Given the description of an element on the screen output the (x, y) to click on. 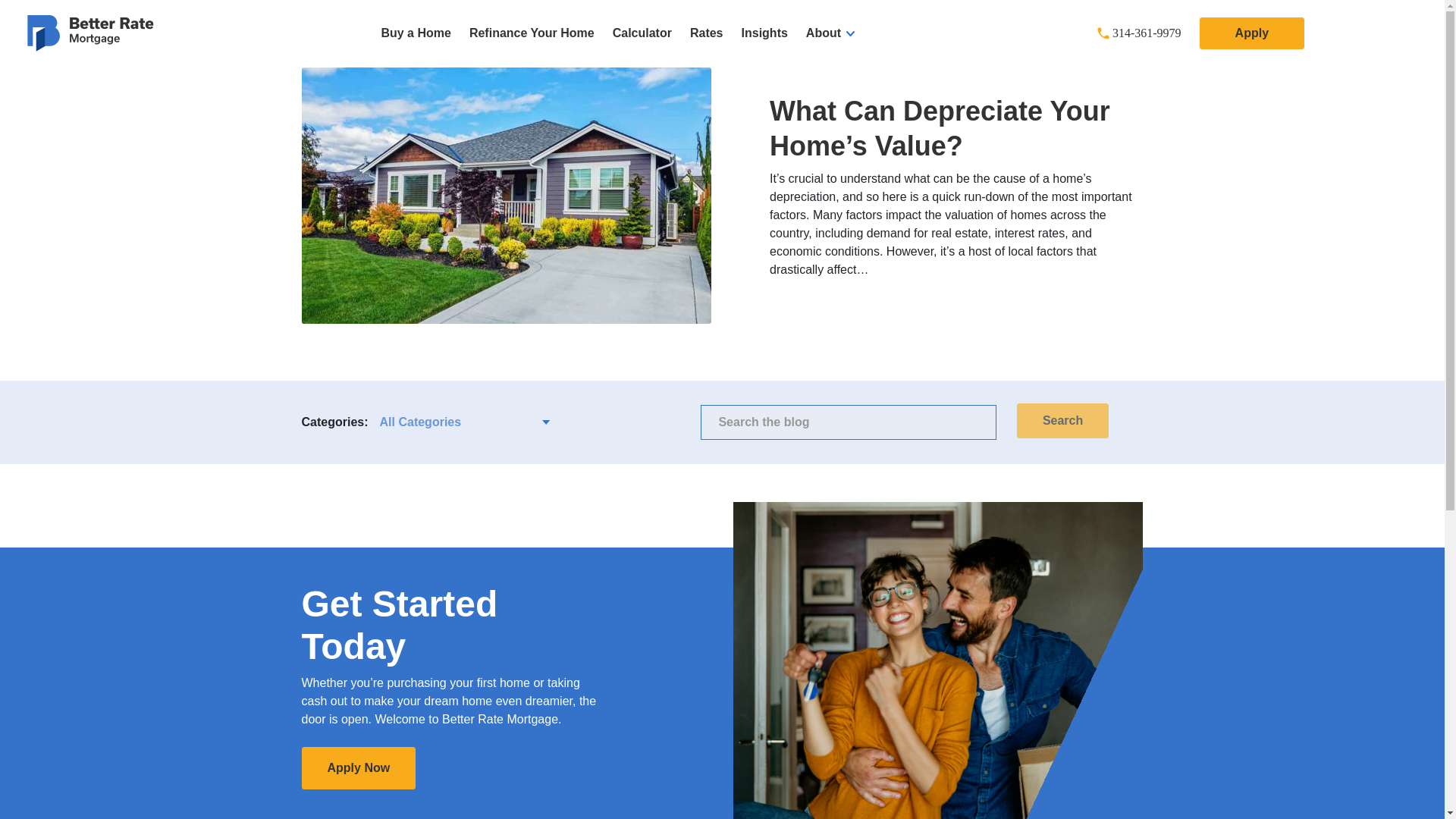
Apply Now (358, 767)
Skip to main content (15, 3)
About (830, 33)
Calculator (641, 33)
314-361-9979 (1146, 33)
Refinance Your Home (531, 33)
Calculator (641, 33)
Insights (764, 33)
Apply (1251, 33)
314-361-9979 (1146, 33)
